Given the description of an element on the screen output the (x, y) to click on. 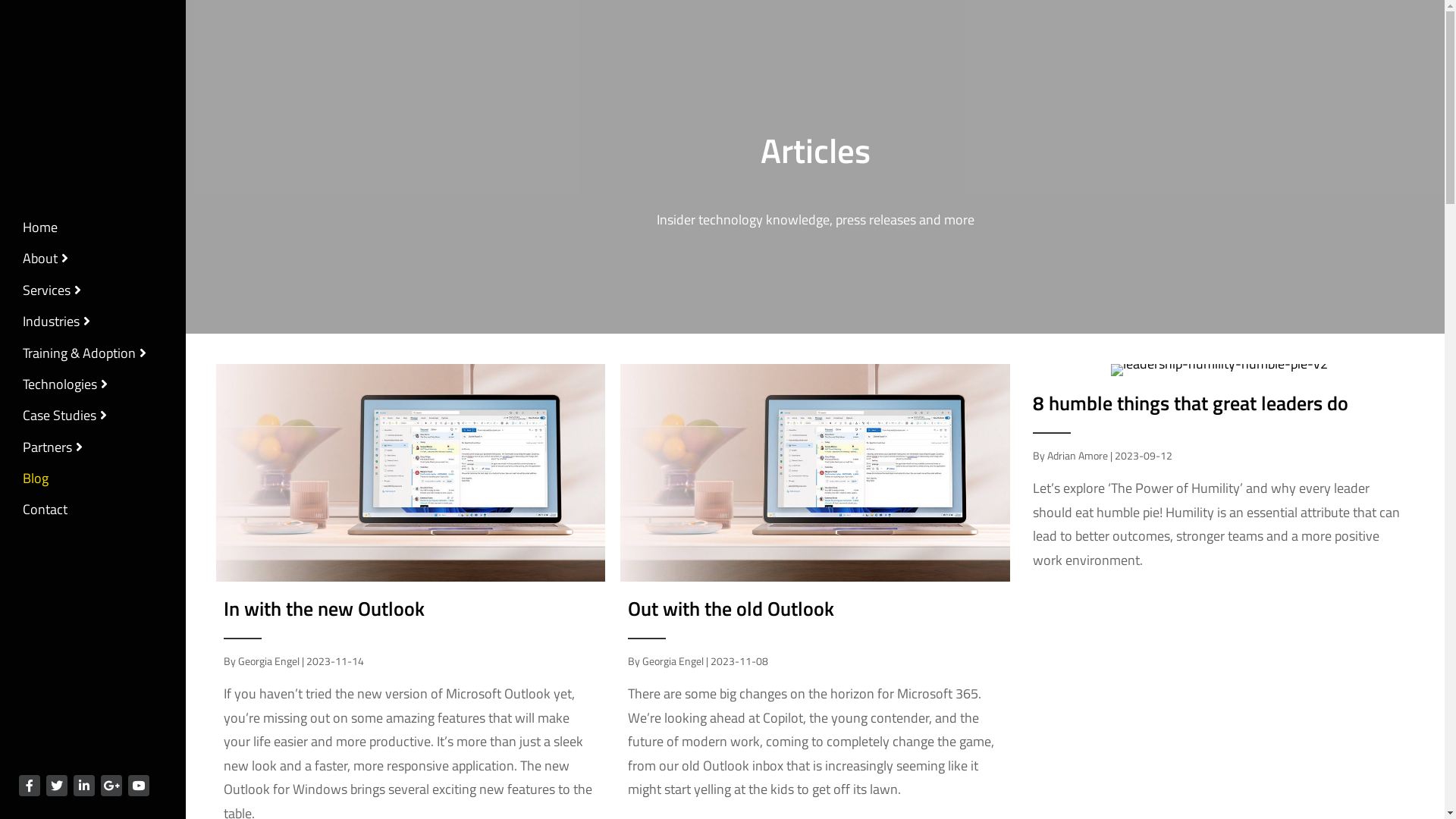
Industries Element type: text (56, 324)
In with the new Outlook  Element type: text (326, 608)
Blog Element type: text (35, 481)
Home Element type: text (40, 230)
Georgia Engel Element type: text (672, 660)
Out with the old Outlook Element type: text (730, 608)
Partners Element type: text (52, 450)
Training & Adoption Element type: text (84, 356)
8 humble things that great leaders do Element type: text (1190, 402)
leadership-humility-humble-pie-v2 Element type: hover (1218, 370)
About Element type: text (45, 261)
Georgia Engel Element type: text (268, 660)
Case Studies Element type: text (64, 418)
Adrian Amore Element type: text (1077, 455)
Technologies Element type: text (65, 387)
Services Element type: text (51, 293)
Contact Element type: text (45, 512)
